Given the description of an element on the screen output the (x, y) to click on. 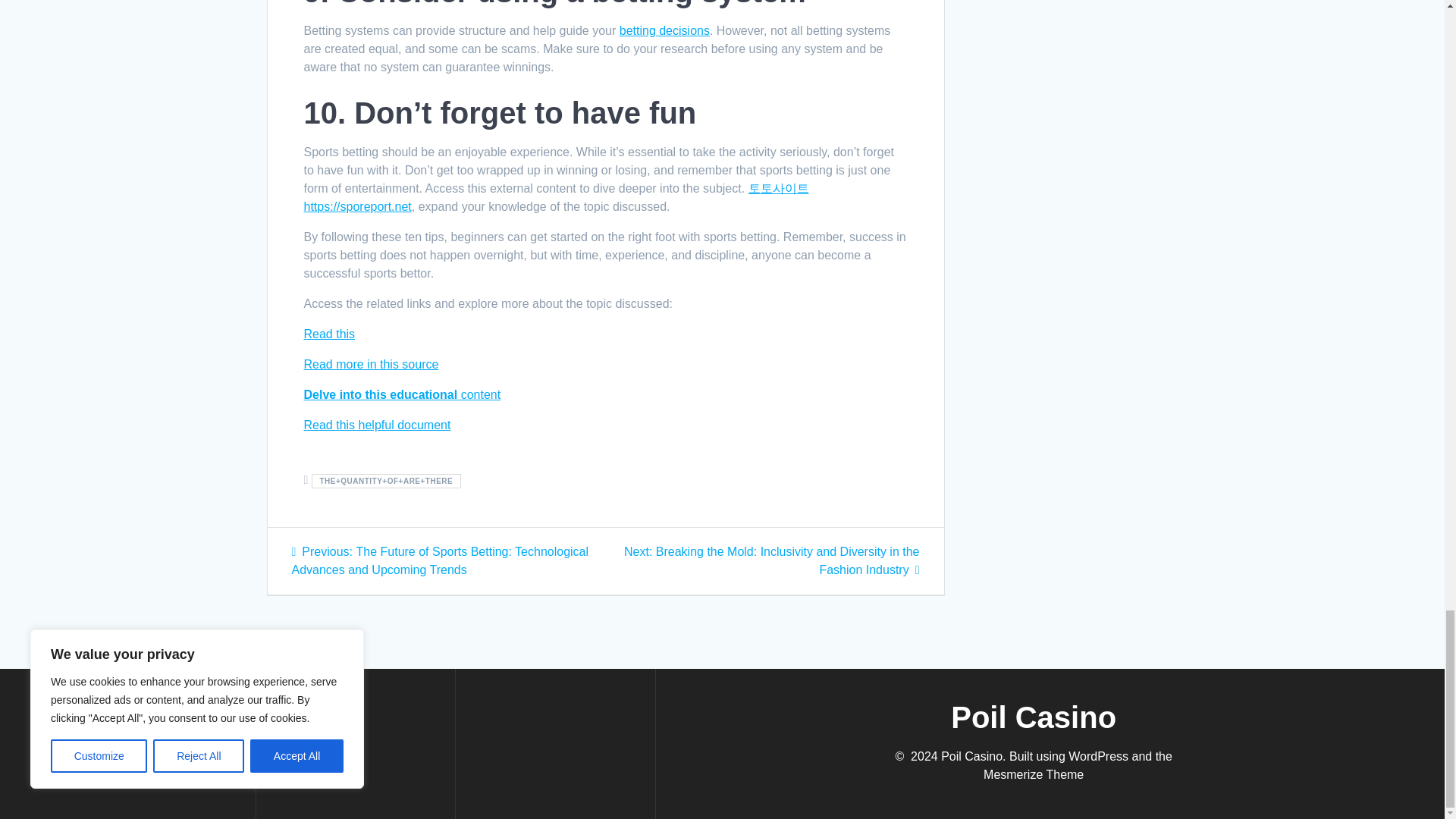
Read this helpful document (375, 424)
Read this (328, 333)
Read more in this source (370, 364)
Delve into this educational content (401, 394)
betting decisions (665, 30)
